Given the description of an element on the screen output the (x, y) to click on. 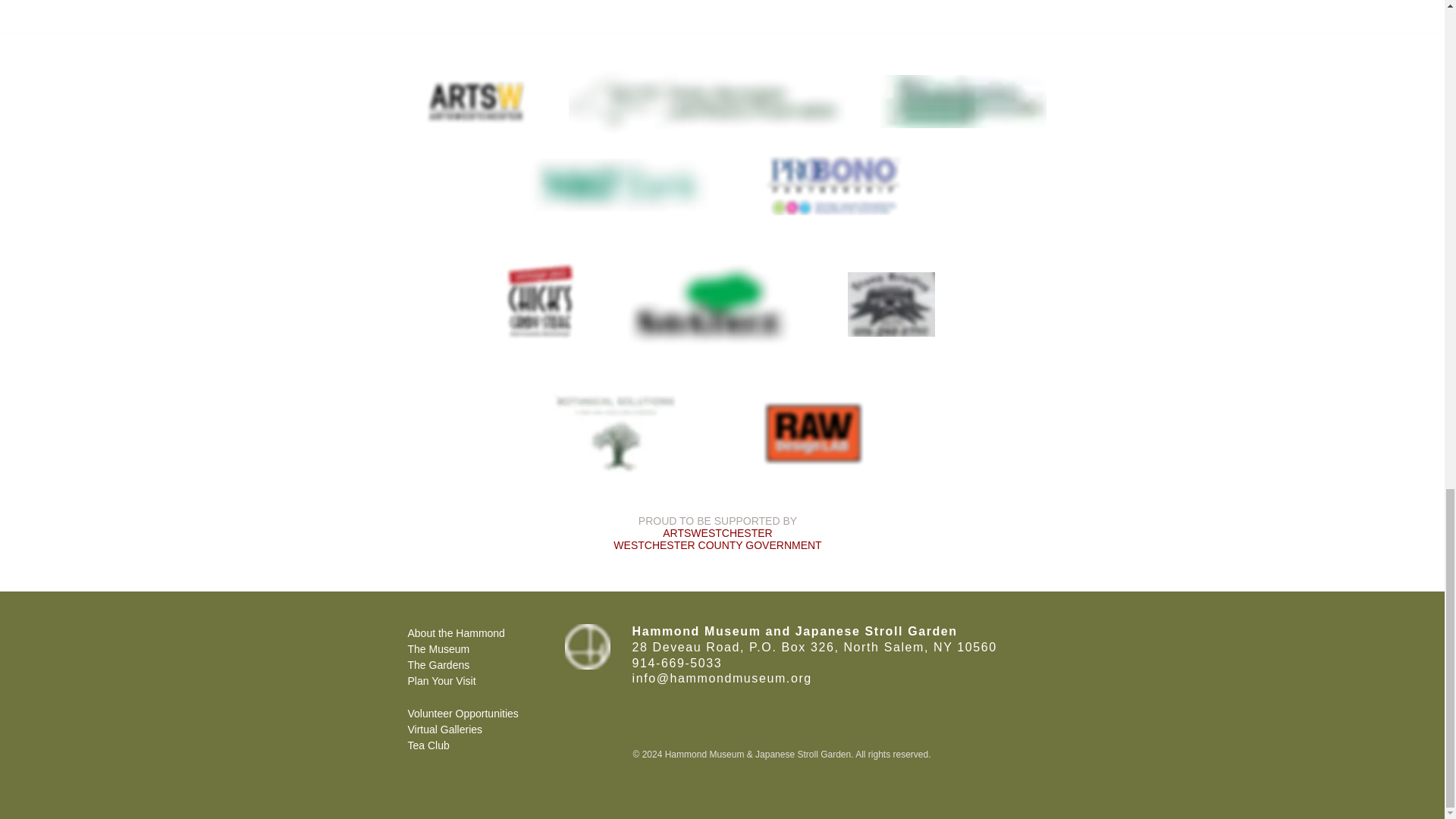
Pro Bono Logo (832, 182)
